Given the description of an element on the screen output the (x, y) to click on. 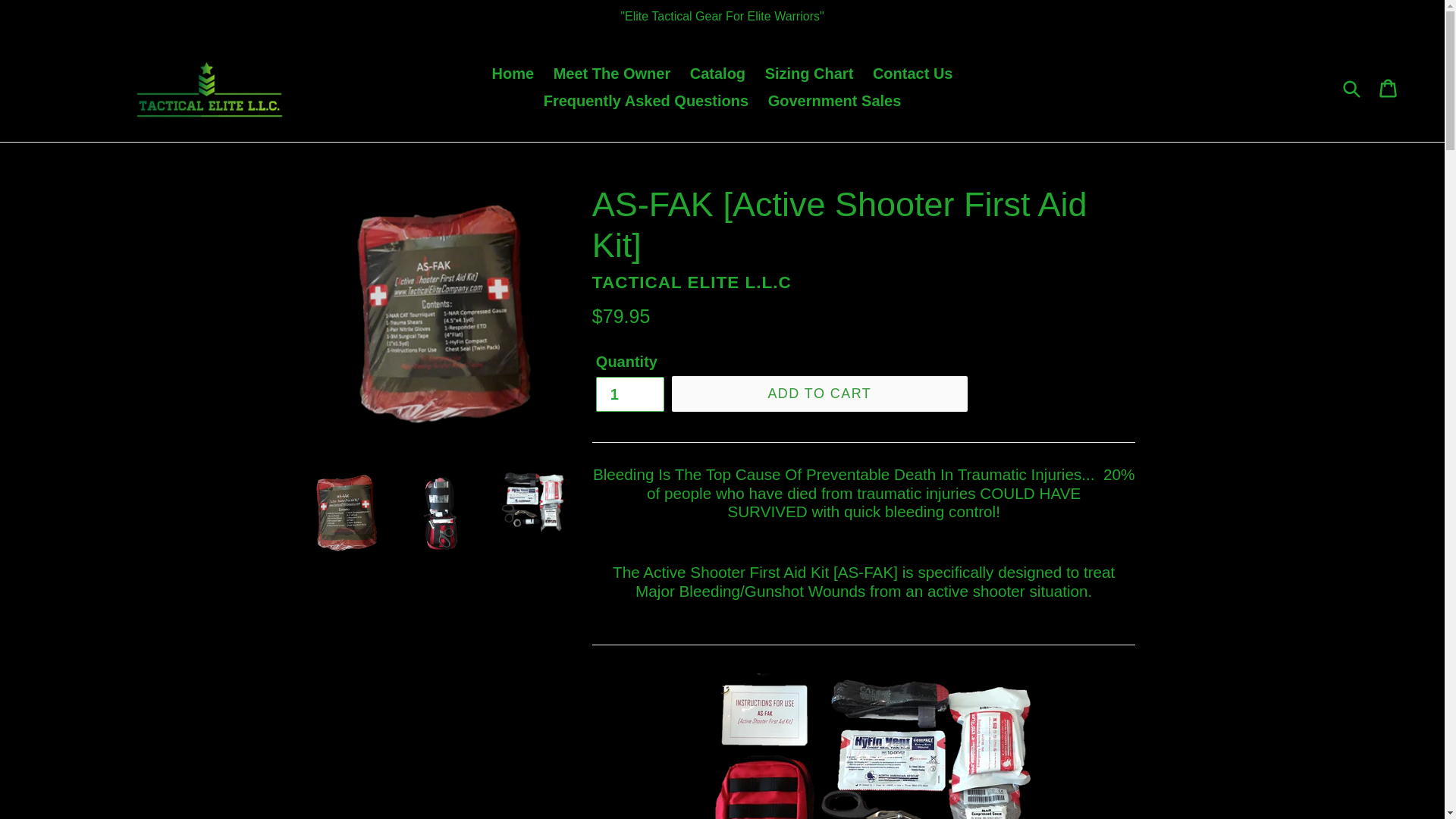
Sizing Chart (809, 72)
1 (629, 393)
Contact Us (912, 72)
Frequently Asked Questions (645, 100)
Meet The Owner (612, 72)
Cart (1389, 86)
Government Sales (834, 100)
Submit (1353, 86)
Home (512, 72)
Catalog (717, 72)
ADD TO CART (819, 393)
